Given the description of an element on the screen output the (x, y) to click on. 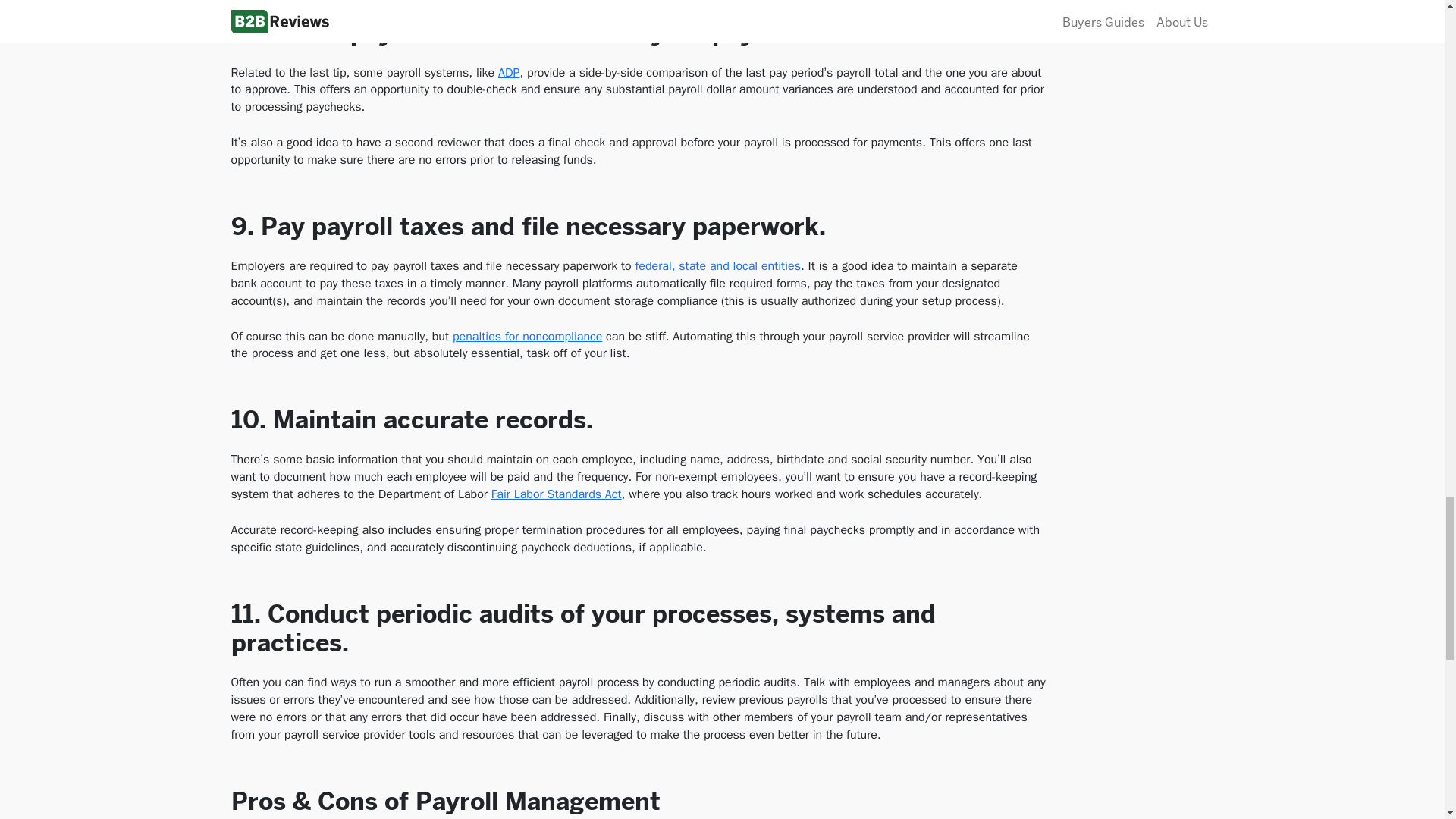
penalties for noncompliance (527, 336)
Fair Labor Standards Act (556, 494)
federal, state and local entities (717, 265)
ADP (508, 72)
